Given the description of an element on the screen output the (x, y) to click on. 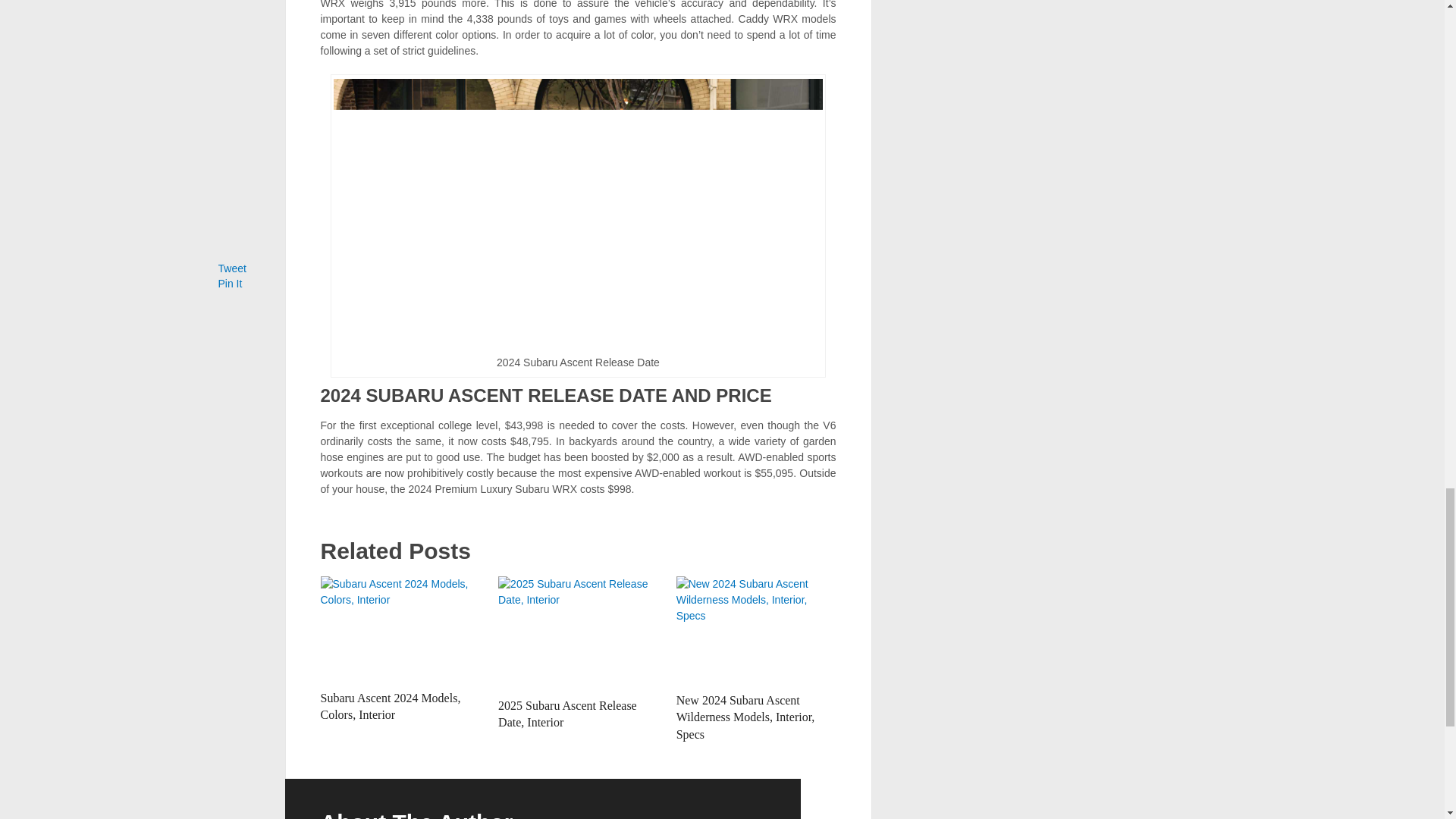
Subaru Ascent 2024 Models, Colors, Interior (390, 706)
New 2024 Subaru Ascent Wilderness Models, Interior, Specs (746, 717)
2025 Subaru Ascent Release Date, Interior (567, 713)
New 2024 Subaru Ascent Wilderness Models, Interior, Specs (756, 630)
New 2024 Subaru Ascent Wilderness Models, Interior, Specs (746, 717)
2025 Subaru Ascent Release Date, Interior (567, 713)
Subaru Ascent 2024 Models, Colors, Interior (390, 706)
2025 Subaru Ascent Release Date, Interior (577, 633)
Subaru Ascent 2024 Models, Colors, Interior (400, 629)
